Given the description of an element on the screen output the (x, y) to click on. 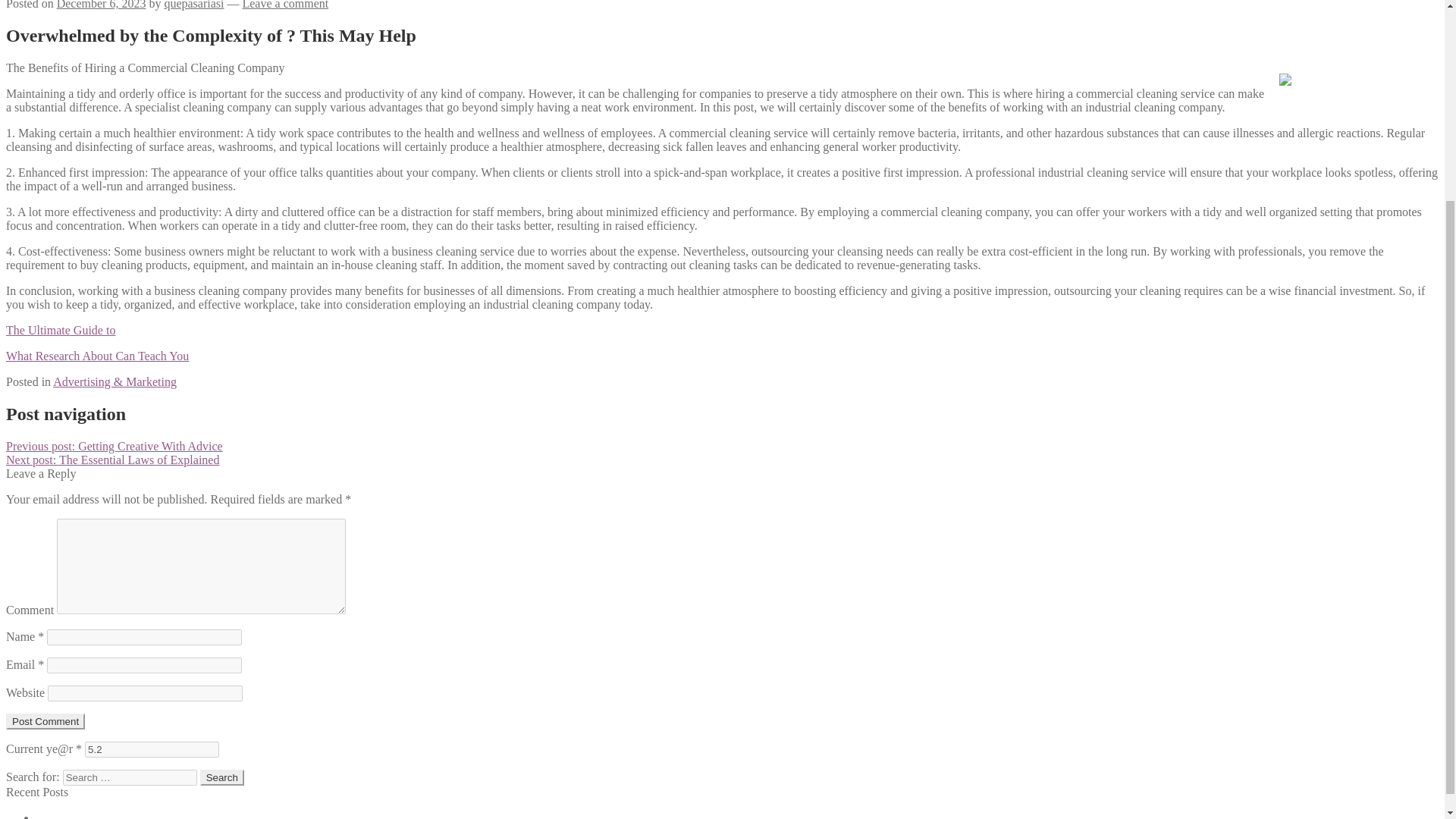
The Ultimate Guide to (60, 329)
Search (222, 777)
quepasariasi (193, 4)
Post Comment (44, 721)
Search (222, 777)
Search (222, 777)
Leave a comment (285, 4)
What Research About Can Teach You (97, 355)
Post Comment (44, 721)
5.2 (151, 749)
